Given the description of an element on the screen output the (x, y) to click on. 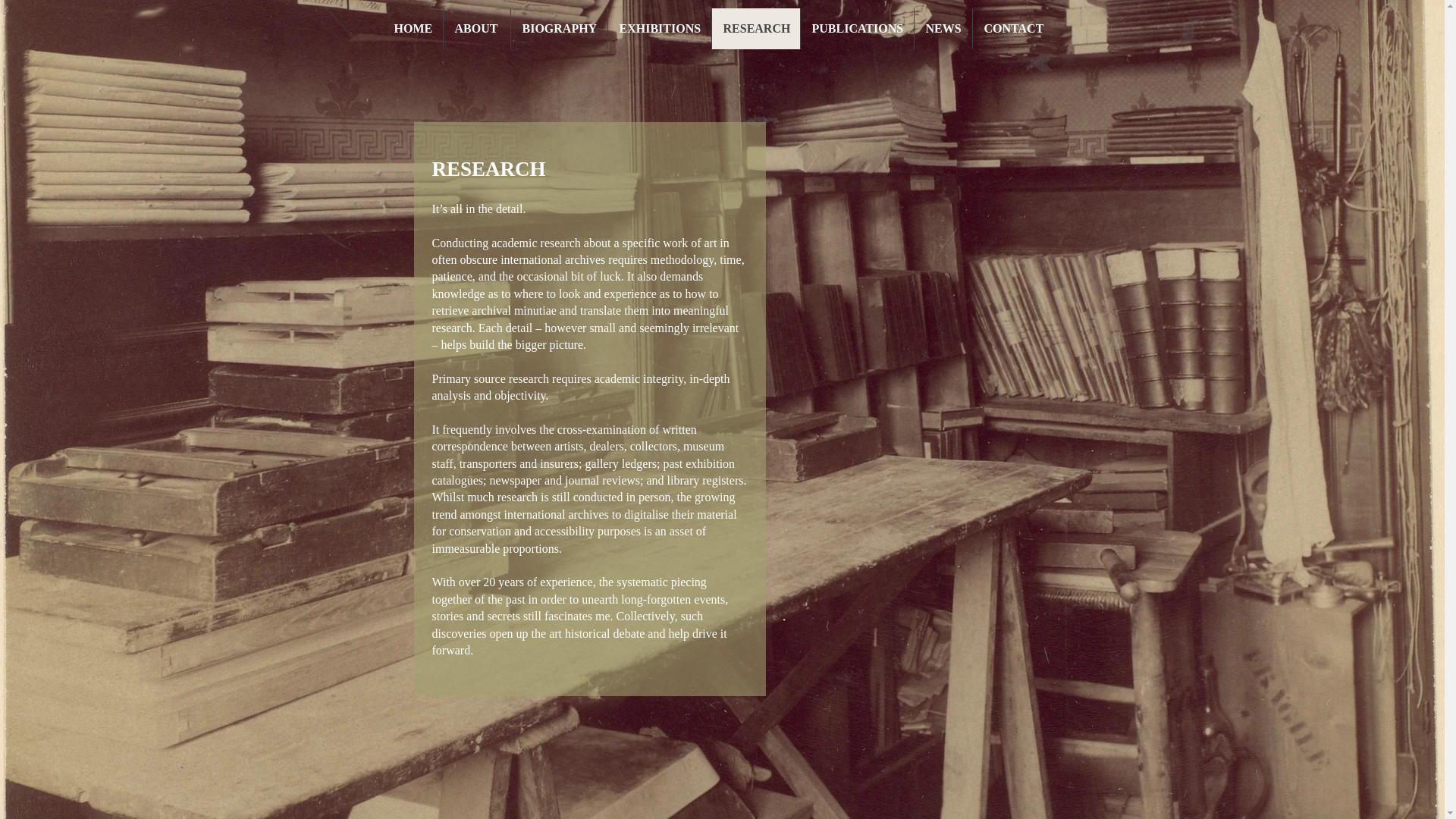
EXHIBITIONS (658, 28)
CONTACT (1014, 28)
RESEARCH (755, 28)
BIOGRAPHY (558, 28)
PUBLICATIONS (855, 28)
HOME (411, 28)
NEWS (941, 28)
ABOUT (476, 28)
